Given the description of an element on the screen output the (x, y) to click on. 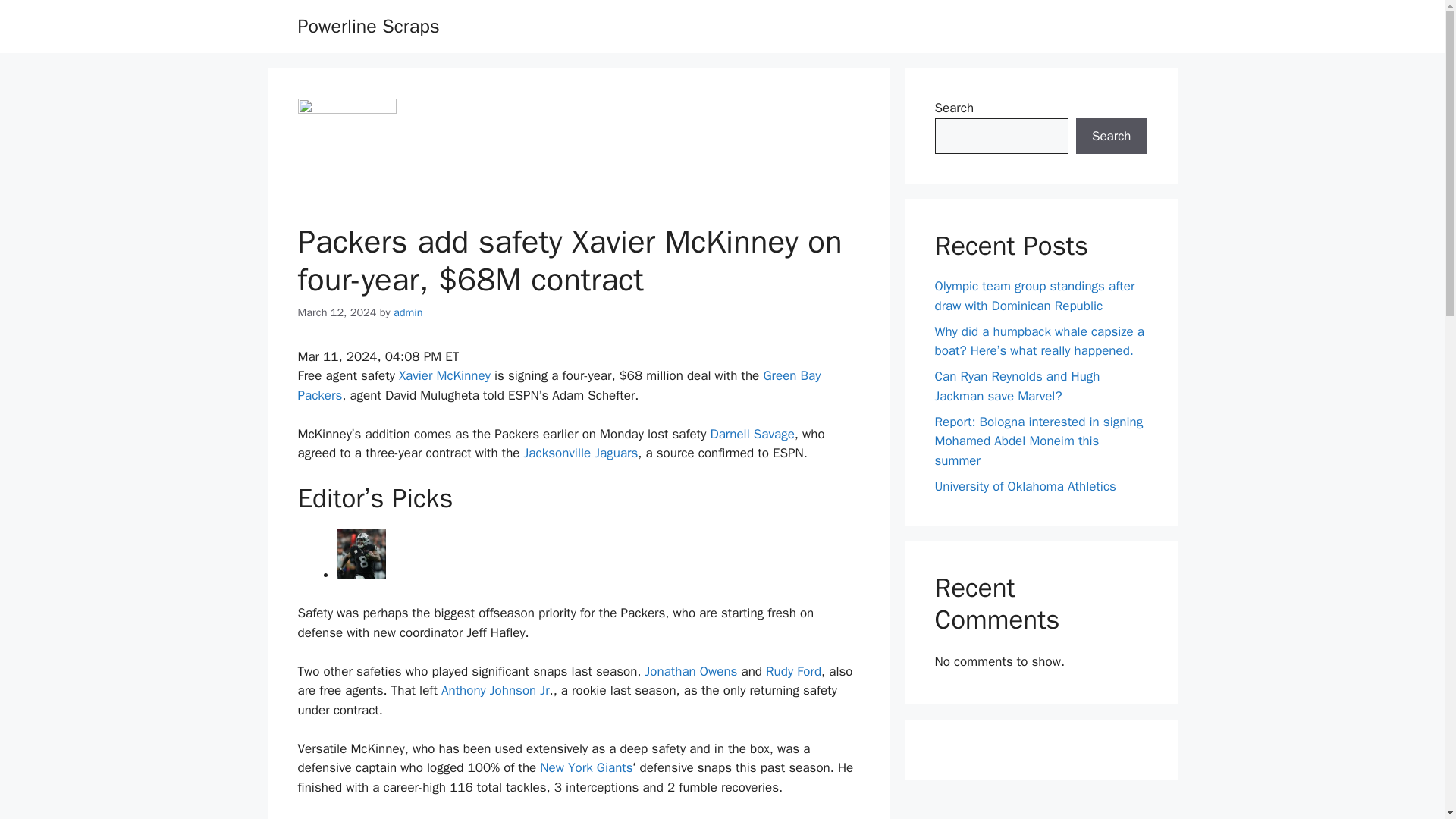
Jacksonville Jaguars (581, 453)
New York Giants (585, 767)
admin (408, 312)
Xavier McKinney (444, 375)
Powerline Scraps (368, 25)
Anthony Johnson Jr (495, 690)
Search (1111, 135)
Darnell Savage (751, 433)
Jonathan Owens (691, 671)
Green Bay Packers (559, 385)
Can Ryan Reynolds and Hugh Jackman save Marvel? (1016, 386)
View all posts by admin (408, 312)
University of Oklahoma Athletics (1024, 485)
